Given the description of an element on the screen output the (x, y) to click on. 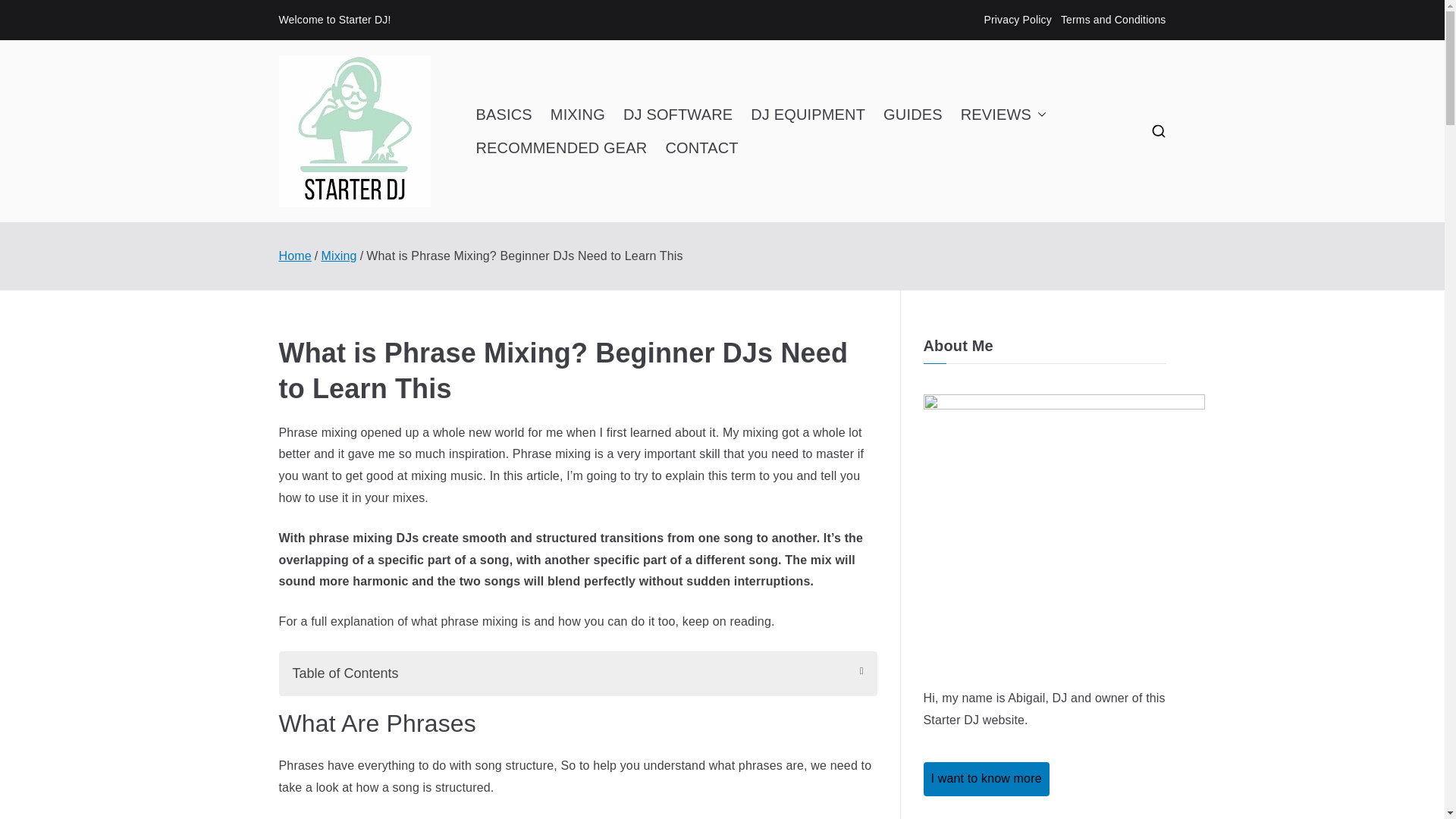
Terms and Conditions (1113, 19)
Table of Contents (578, 673)
CONTACT (701, 147)
RECOMMENDED GEAR (561, 147)
Home (295, 255)
DJ SOFTWARE (677, 114)
MIXING (577, 114)
Mixing (338, 255)
DJ EQUIPMENT (807, 114)
Search (26, 12)
GUIDES (912, 114)
BASICS (504, 114)
REVIEWS (1003, 114)
Starter DJ (518, 150)
Privacy Policy (1017, 19)
